Given the description of an element on the screen output the (x, y) to click on. 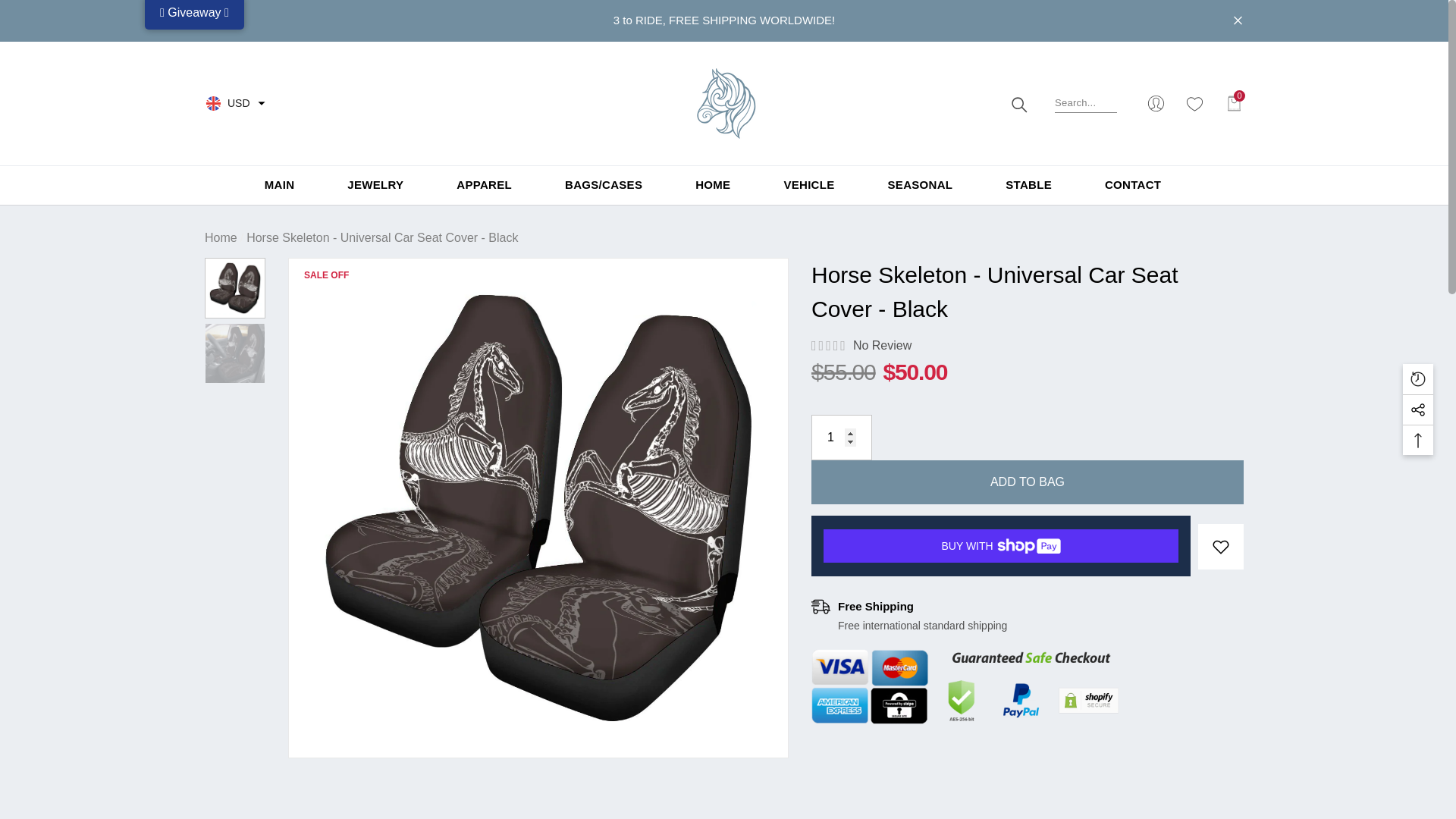
Horse Skeleton - Universal Car Seat Cover - Black Element type: hover (234, 287)
VEHICLE Element type: text (808, 183)
My Wish List Element type: text (1194, 102)
Log in Element type: text (723, 157)
JEWELRY Element type: text (375, 183)
Close Element type: text (1237, 20)
Horse Skeleton - Universal Car Seat Cover - Black Element type: hover (234, 353)
ADD TO BAG Element type: text (1027, 482)
Add To Wishlist Element type: text (1220, 546)
Log in Element type: text (1155, 102)
CONTACT Element type: text (1132, 184)
Horse Skeleton - Universal Car Seat Cover - Black Element type: text (1027, 291)
MAIN Element type: text (279, 184)
BAGS/CASES Element type: text (603, 183)
APPAREL Element type: text (483, 183)
More payment options Element type: text (1000, 576)
HOME Element type: text (712, 183)
STABLE Element type: text (1028, 183)
Home Element type: text (220, 238)
SEASONAL Element type: text (920, 184)
Cart
0
0 items Element type: text (1233, 103)
Horse Skeleton - Universal Car Seat Cover - Black Element type: hover (537, 507)
